Given the description of an element on the screen output the (x, y) to click on. 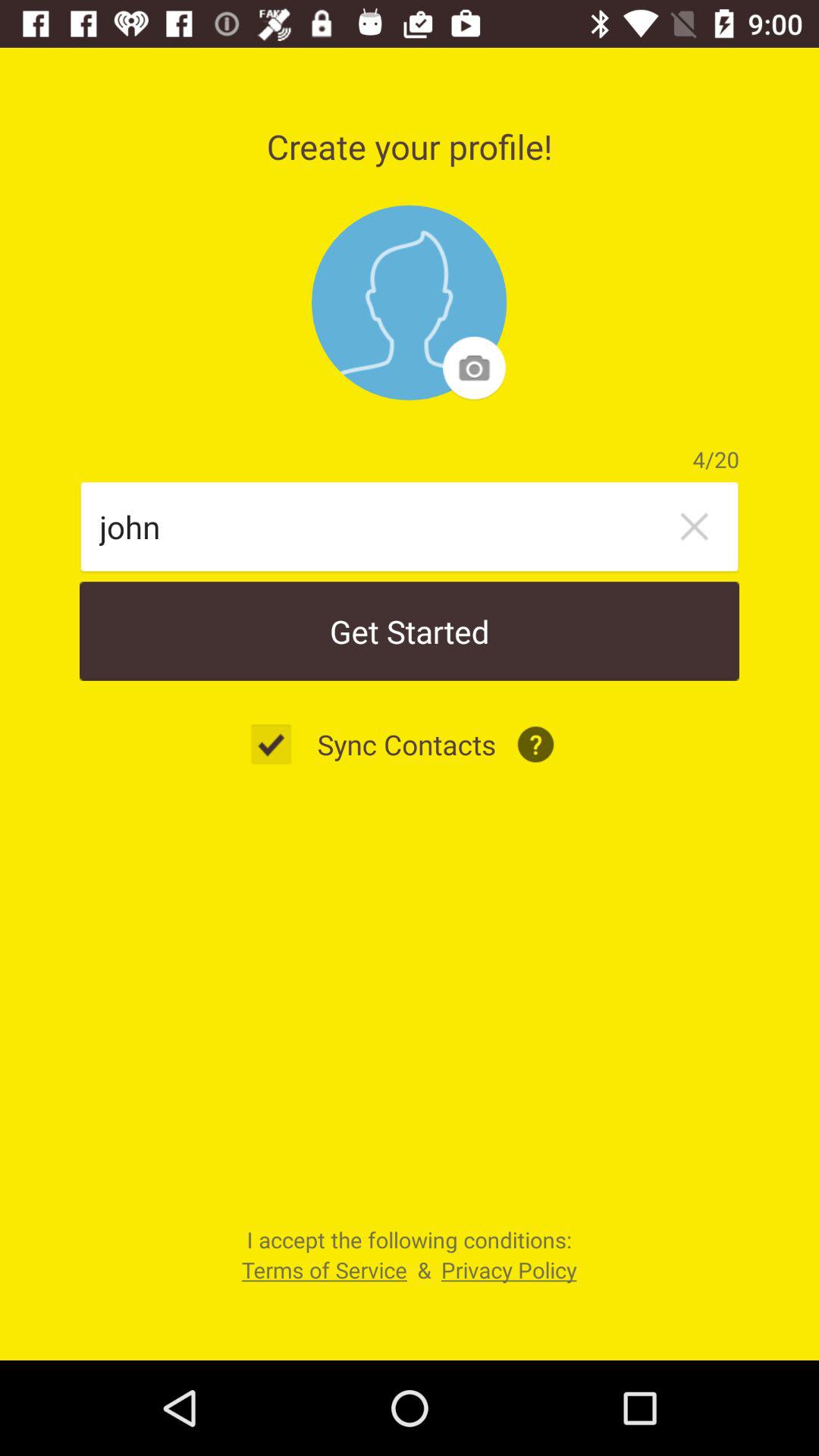
turn on the item below get started button (279, 744)
